Given the description of an element on the screen output the (x, y) to click on. 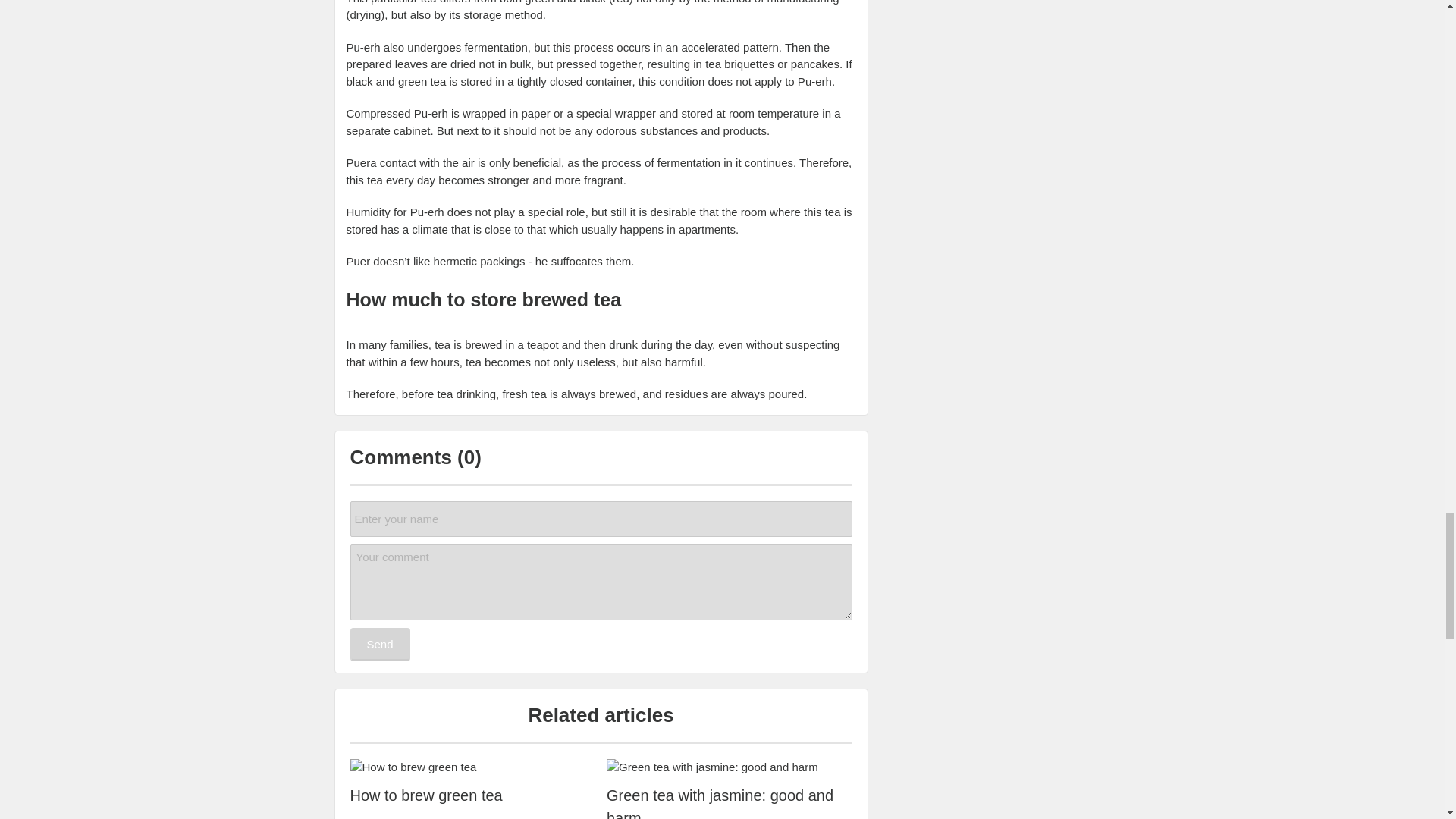
How to brew green tea (472, 794)
Green tea with jasmine: good and harm (729, 801)
Send (380, 644)
Green tea with jasmine: good and harm (729, 767)
How to brew green tea (472, 767)
